Given the description of an element on the screen output the (x, y) to click on. 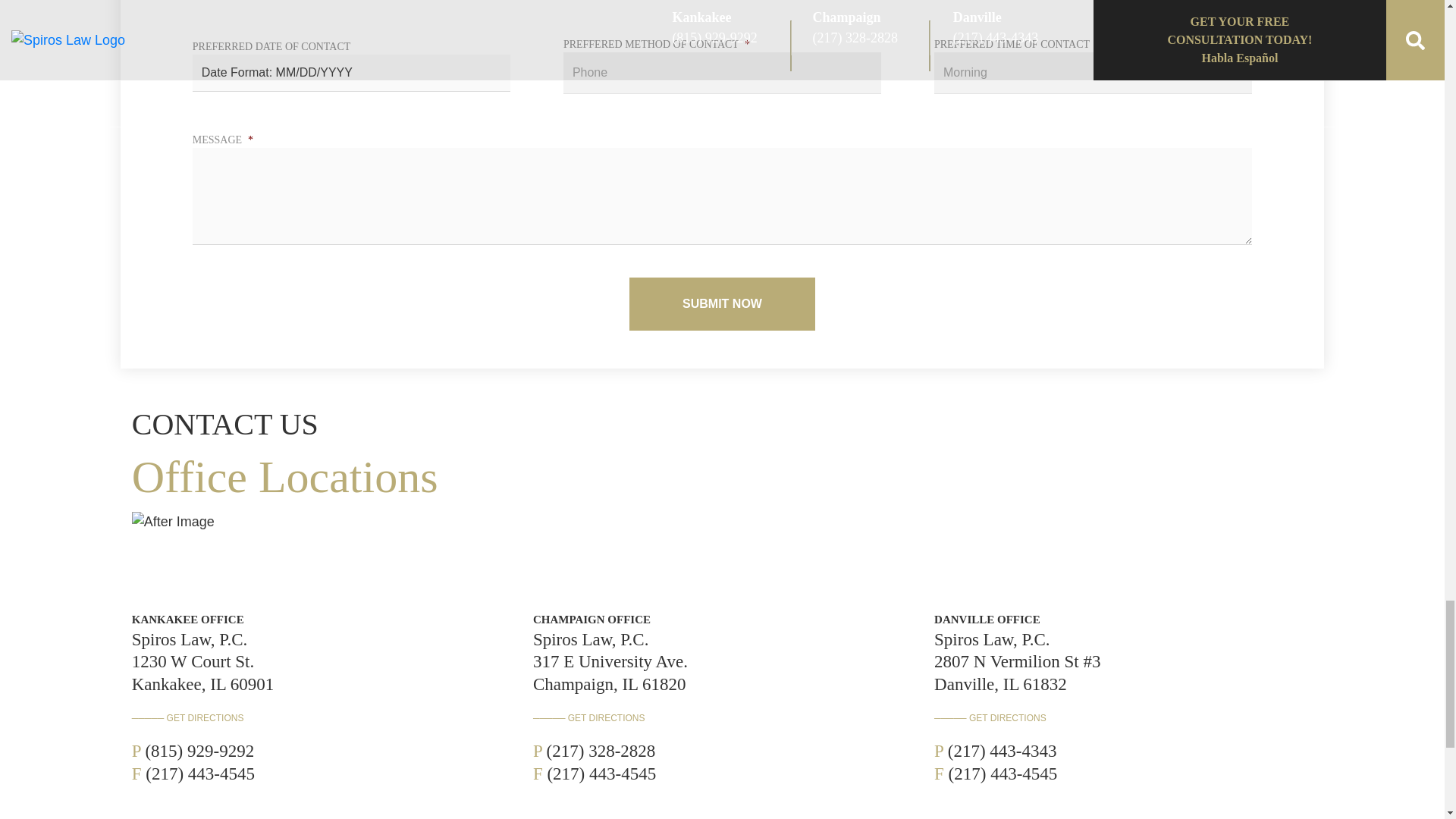
Submit Now (721, 303)
